Given the description of an element on the screen output the (x, y) to click on. 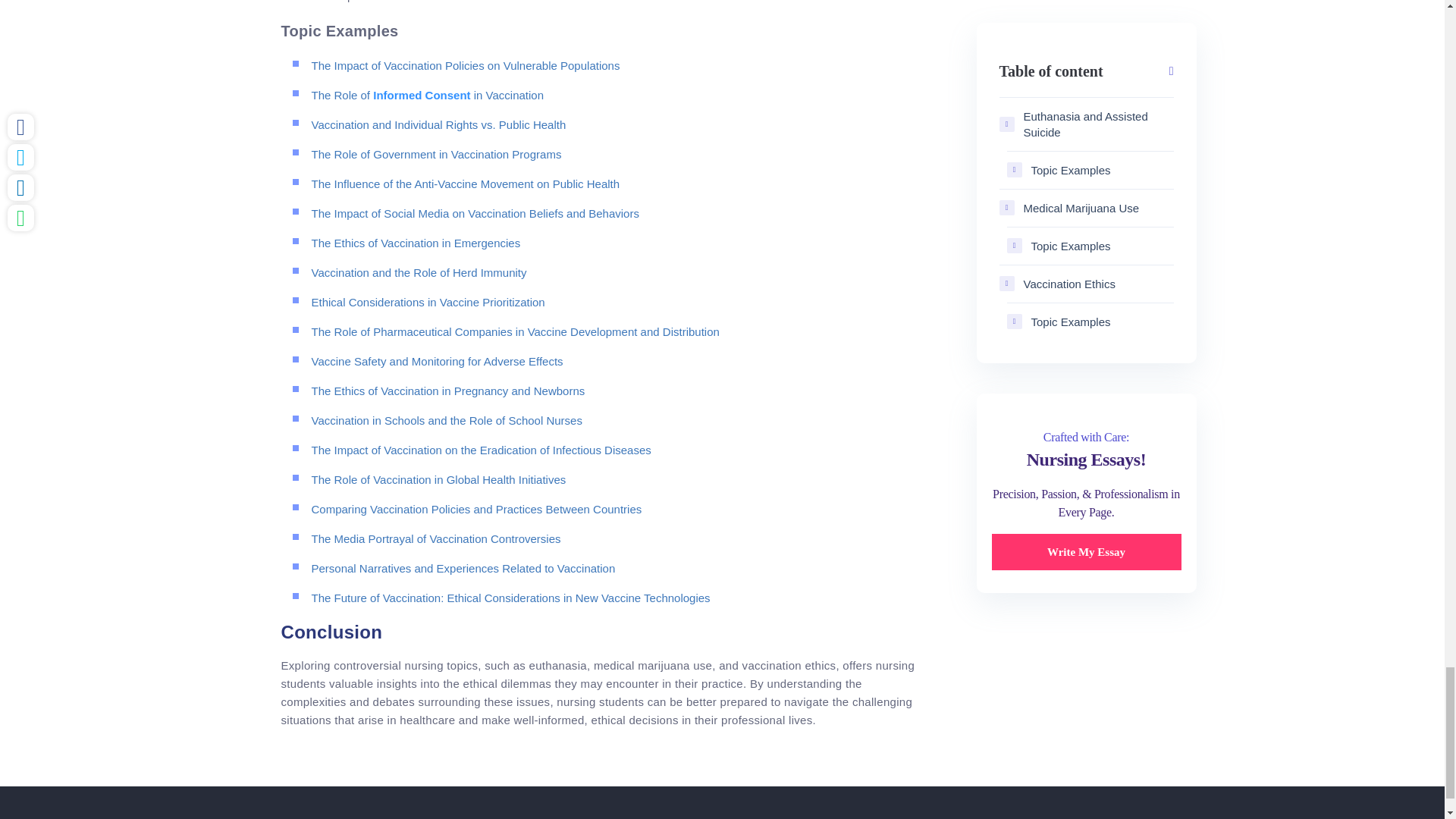
Informed Consent (421, 94)
